Given the description of an element on the screen output the (x, y) to click on. 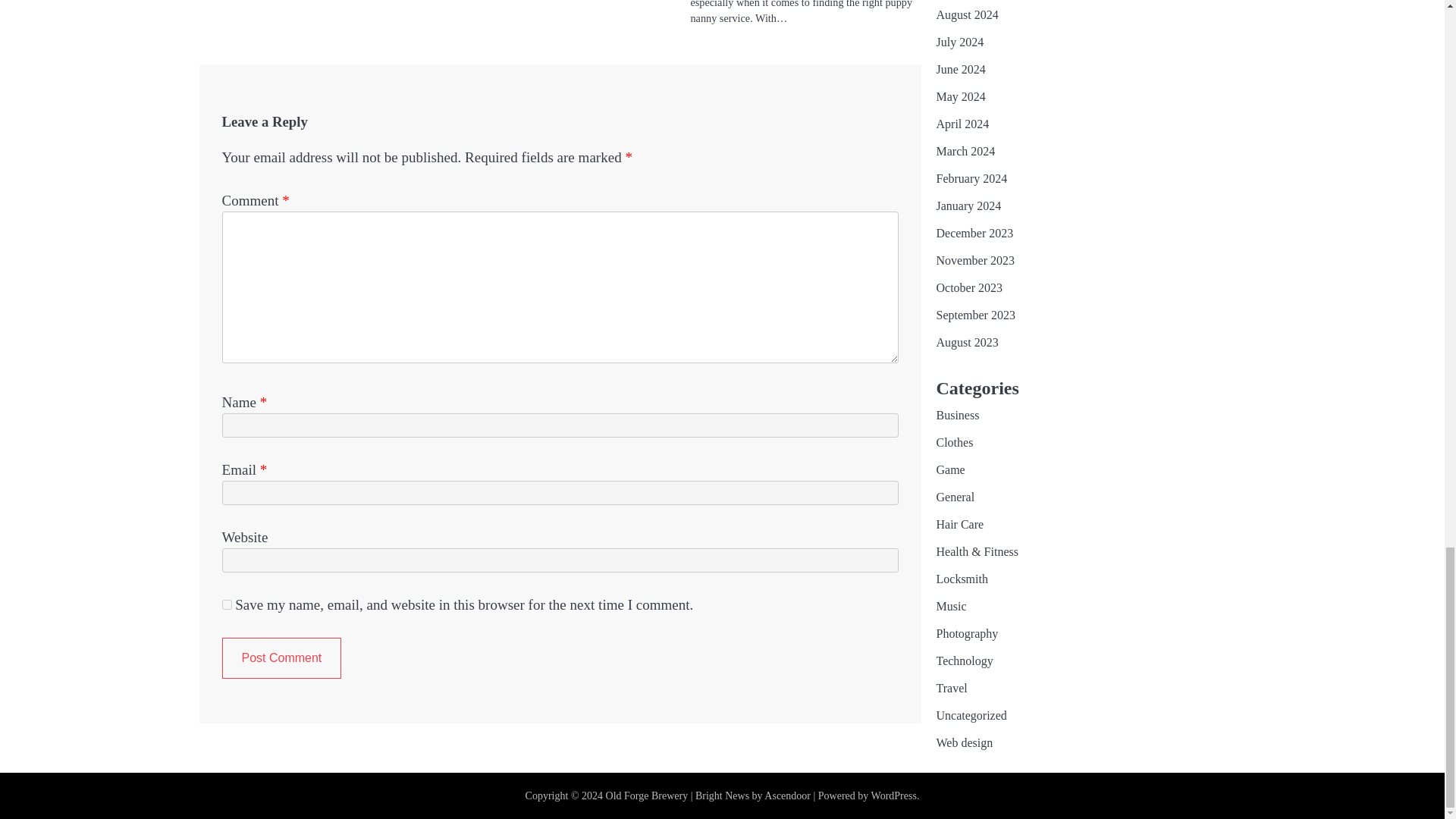
Post Comment (280, 658)
yes (226, 604)
Post Comment (280, 658)
